Given the description of an element on the screen output the (x, y) to click on. 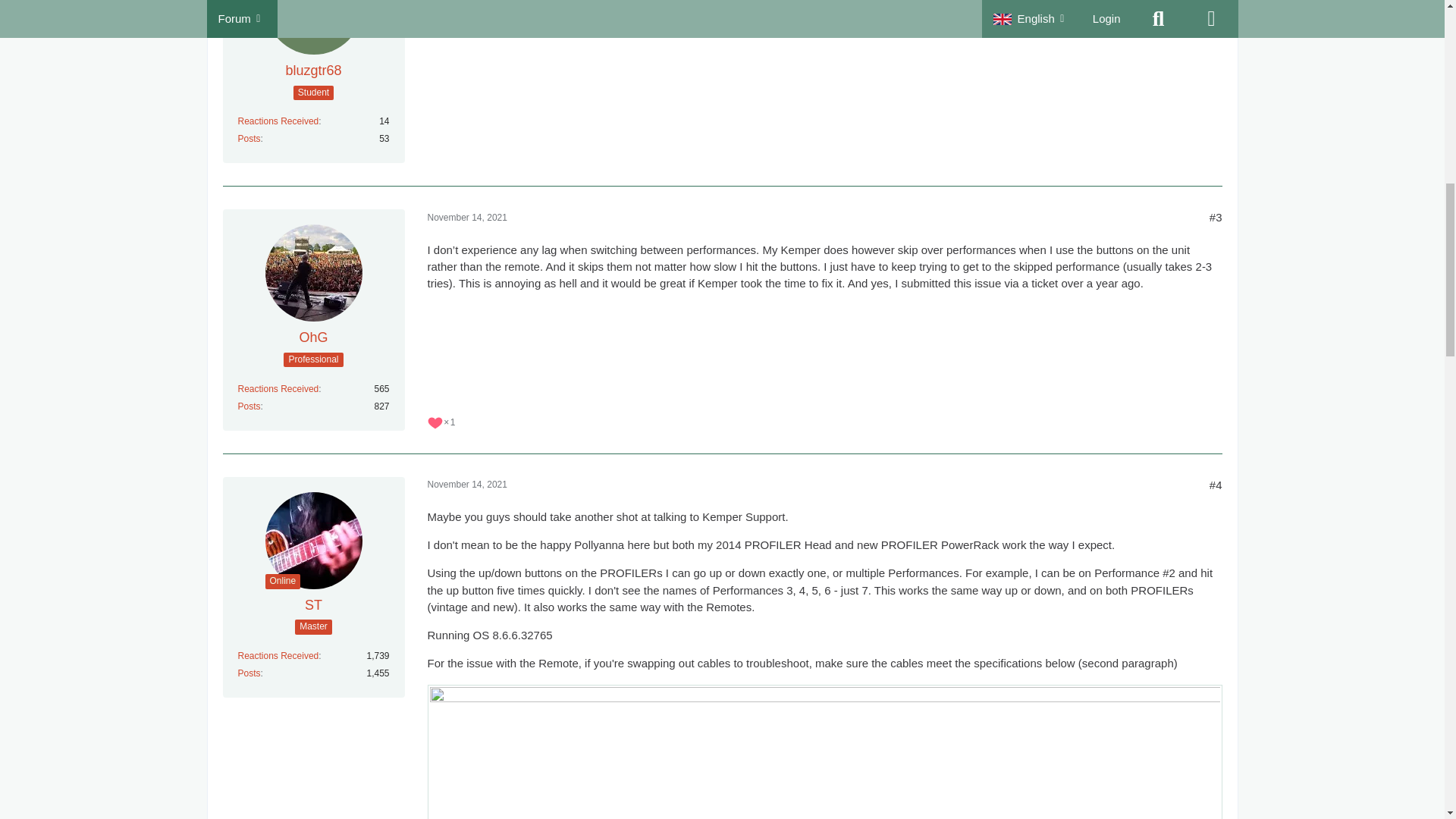
Reactions Received (278, 388)
ST is online (282, 581)
pasted-from-clipboard.png (825, 751)
OhG (312, 337)
Reactions Received (278, 121)
November 14, 2021November 14, 2021 at 4:22 PM (467, 217)
bluzgtr68 (312, 70)
Posts (249, 406)
Posts (249, 138)
